Given the description of an element on the screen output the (x, y) to click on. 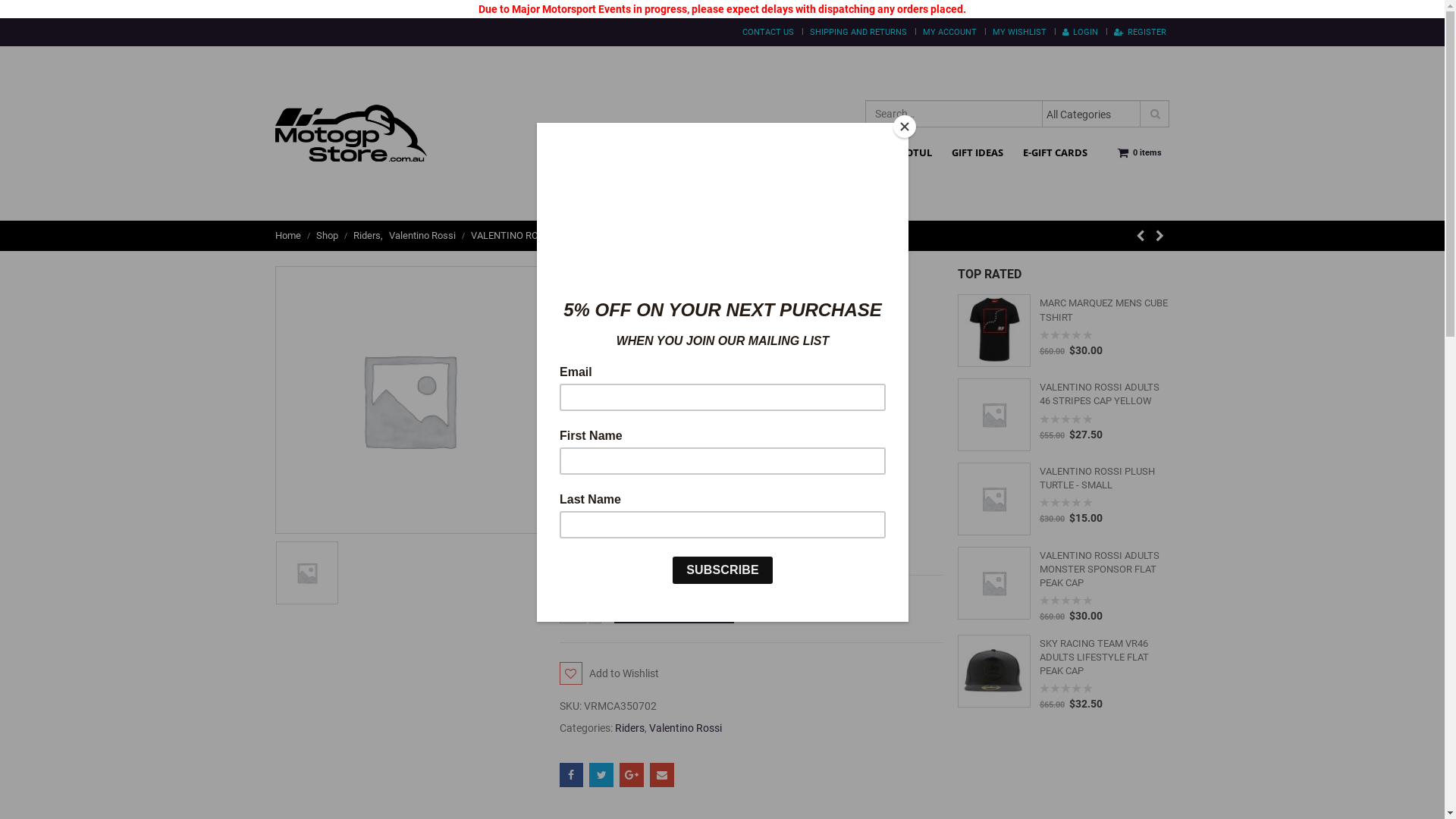
TEAMS Element type: text (649, 152)
MY WISHLIST Element type: text (1019, 32)
MARC MARQUEZ MENS CUBE TSHIRT Element type: hover (993, 330)
VALENTINO ROSSI PLUSH TURTLE - SMALL Element type: hover (993, 498)
Add to cart Element type: text (674, 608)
Riders Element type: text (628, 727)
MY ACCOUNT Element type: text (949, 32)
Facebook Element type: text (571, 774)
There are no reviews yet. Element type: text (617, 345)
SUPERBIKES Element type: text (770, 152)
E-GIFT CARDS Element type: text (1054, 152)
Motogp Store - For all things MotoGP Element type: hover (350, 133)
MOTUL Element type: text (914, 152)
Valentino Rossi Element type: text (685, 727)
RIDERS Element type: text (596, 152)
VALENTINO ROSSI ADULTS 46 STRIPES CAP YELLOW Element type: hover (993, 414)
Riders Element type: text (366, 235)
SKY RACING TEAM VR46 ADULTS LIFESTYLE FLAT PEAK CAP Element type: text (1103, 657)
Twitter Element type: text (601, 774)
Size Guide Element type: text (583, 448)
REGISTER Element type: text (1140, 32)
Google + Element type: text (631, 774)
LOGIN Element type: text (1079, 32)
MOTO3 Element type: text (704, 152)
CONTACT US Element type: text (767, 32)
VALENTINO ROSSI ADULTS 46 STRIPES CAP YELLOW Element type: text (1103, 393)
SHIPPING AND RETURNS Element type: text (857, 32)
VALENTINO ROSSI PLUSH TURTLE - SMALL Element type: text (1103, 478)
SKY RACING TEAM VR46 ADULTS LIFESTYLE FLAT PEAK CAP Element type: hover (993, 670)
Valentino Rossi Element type: text (421, 235)
Qty Element type: hover (572, 608)
VALENTINO ROSSI ADULTS MONSTER SPONSOR FLAT PEAK CAP Element type: text (1103, 569)
Shop Element type: text (326, 235)
*T&Cs  Element type: text (677, 517)
VALENTINO ROSSI ADULTS MONSTER SPONSOR FLAT PEAK CAP Element type: hover (993, 582)
Size Chart Element type: text (583, 420)
GIFT IDEAS Element type: text (977, 152)
Home Element type: text (287, 235)
Search Element type: hover (1155, 112)
Email Element type: text (661, 774)
MARC MARQUEZ MENS CUBE TSHIRT Element type: text (1103, 309)
CLEARANCE Element type: text (847, 152)
